Given the description of an element on the screen output the (x, y) to click on. 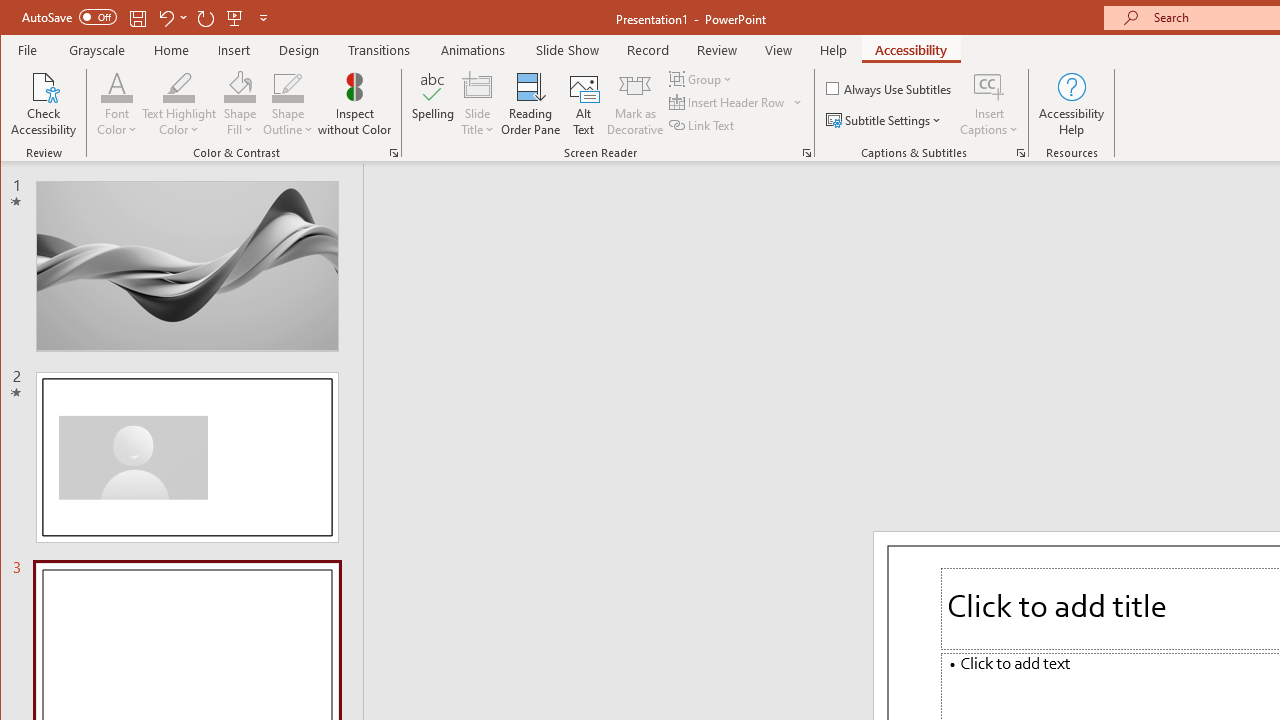
Font Color (116, 86)
Insert Captions (989, 86)
Captions & Subtitles (1020, 152)
Inspect without Color (355, 104)
Slide Title (477, 86)
Insert Header Row (735, 101)
Screen Reader (806, 152)
